Given the description of an element on the screen output the (x, y) to click on. 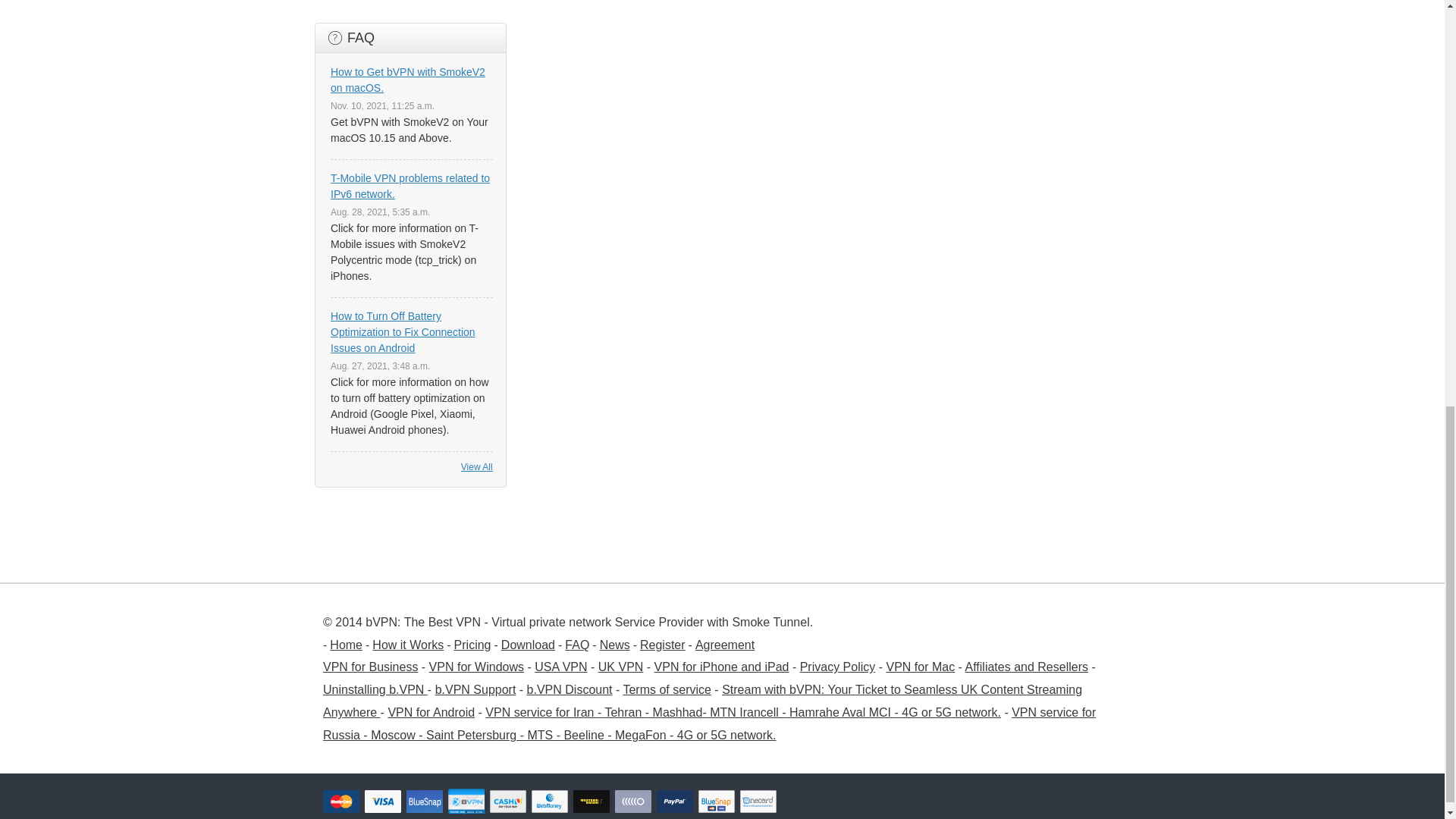
How it Works (408, 644)
VPN for Windows (476, 666)
News (614, 644)
Download (527, 644)
Home (346, 644)
Affiliates and Resellers (1026, 666)
USA VPN (560, 666)
VPN for iPhone and iPad (721, 666)
UK VPN (620, 666)
Pricing (473, 644)
VPN for Business (370, 666)
Agreement (724, 644)
VPN for Mac (920, 666)
View All (477, 467)
